Given the description of an element on the screen output the (x, y) to click on. 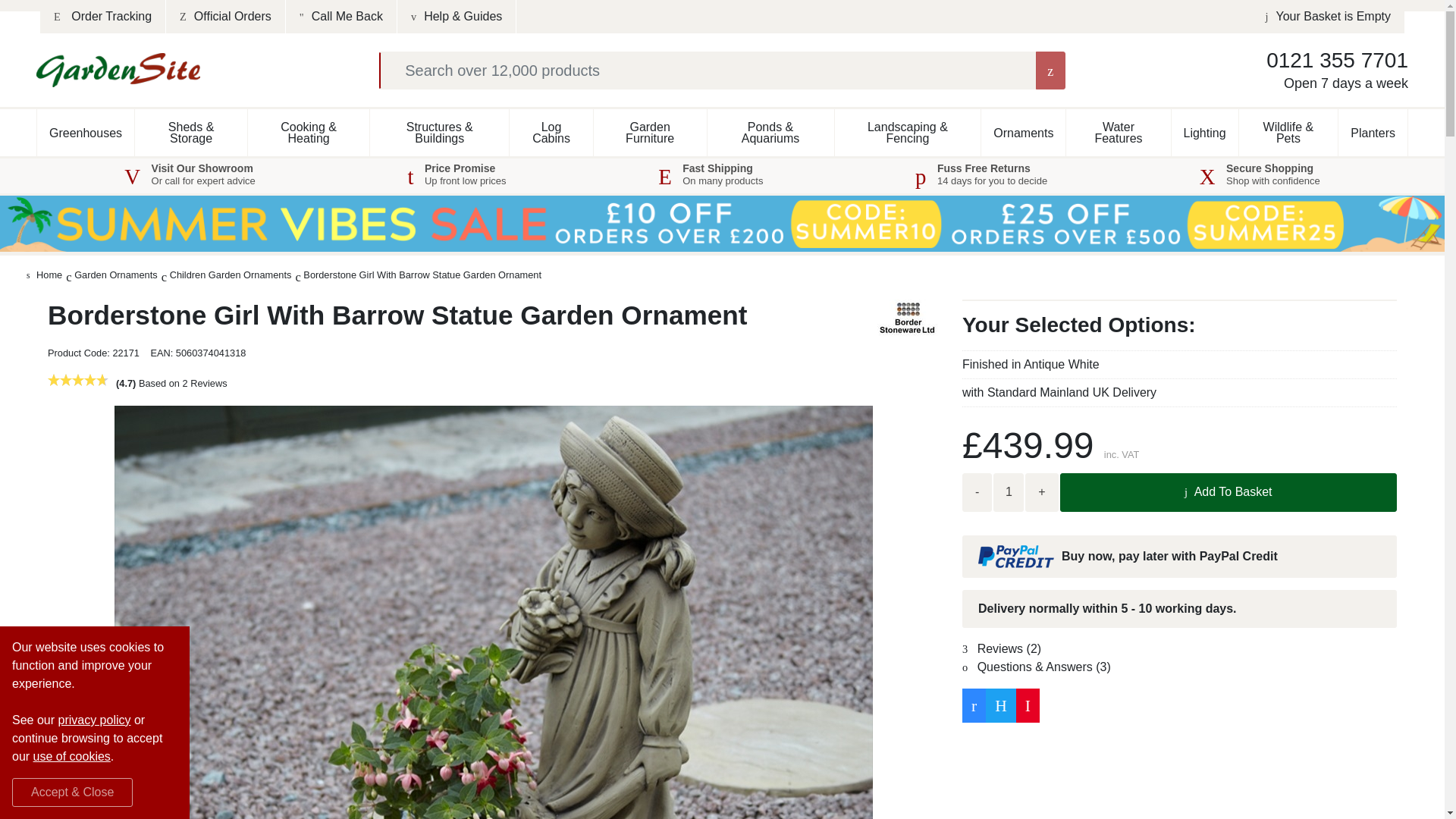
Greenhouses (85, 132)
GardenSite (118, 69)
Order Tracking (102, 16)
Call Me Back (341, 16)
Borderstone Garden Ornaments (908, 317)
Official Orders (225, 16)
